Given the description of an element on the screen output the (x, y) to click on. 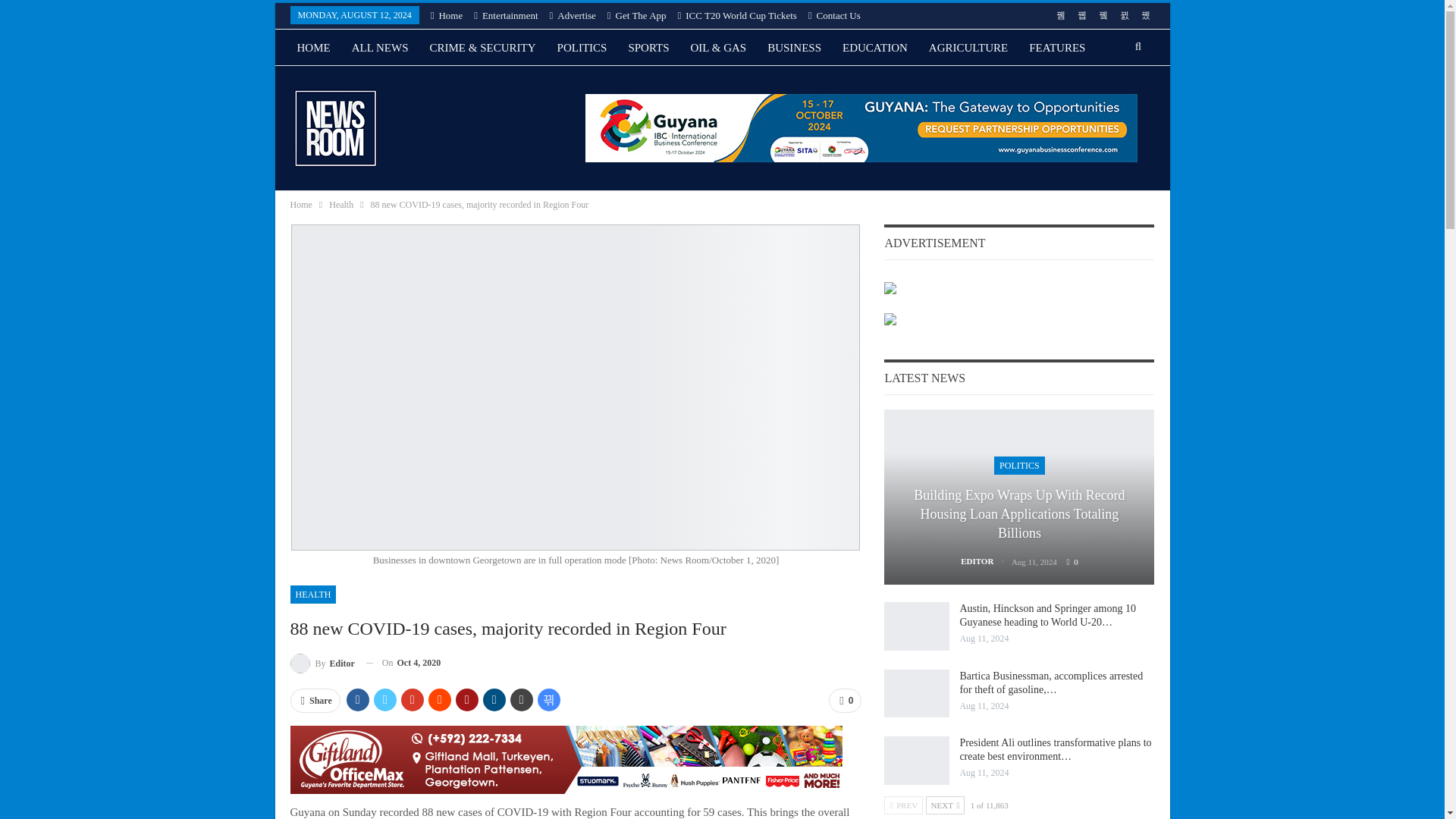
EDUCATION (874, 47)
AGRICULTURE (967, 47)
Entertainment (505, 15)
ALL NEWS (379, 47)
POLITICS (582, 47)
Health (341, 204)
HEALTH (318, 84)
By Editor (321, 662)
FEATURES (1057, 47)
Contact Us (834, 15)
